Given the description of an element on the screen output the (x, y) to click on. 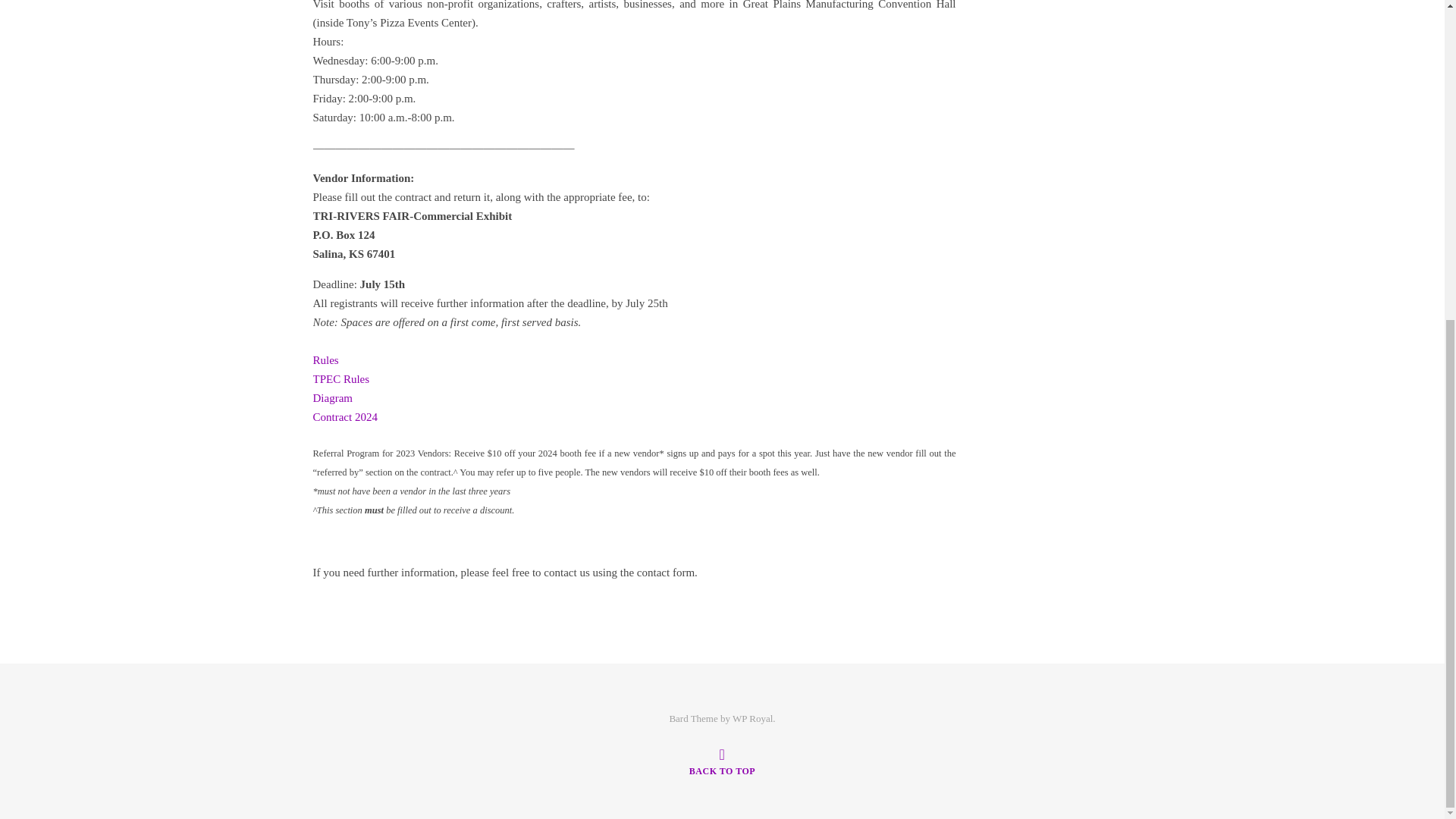
BACK TO TOP (722, 761)
